Given the description of an element on the screen output the (x, y) to click on. 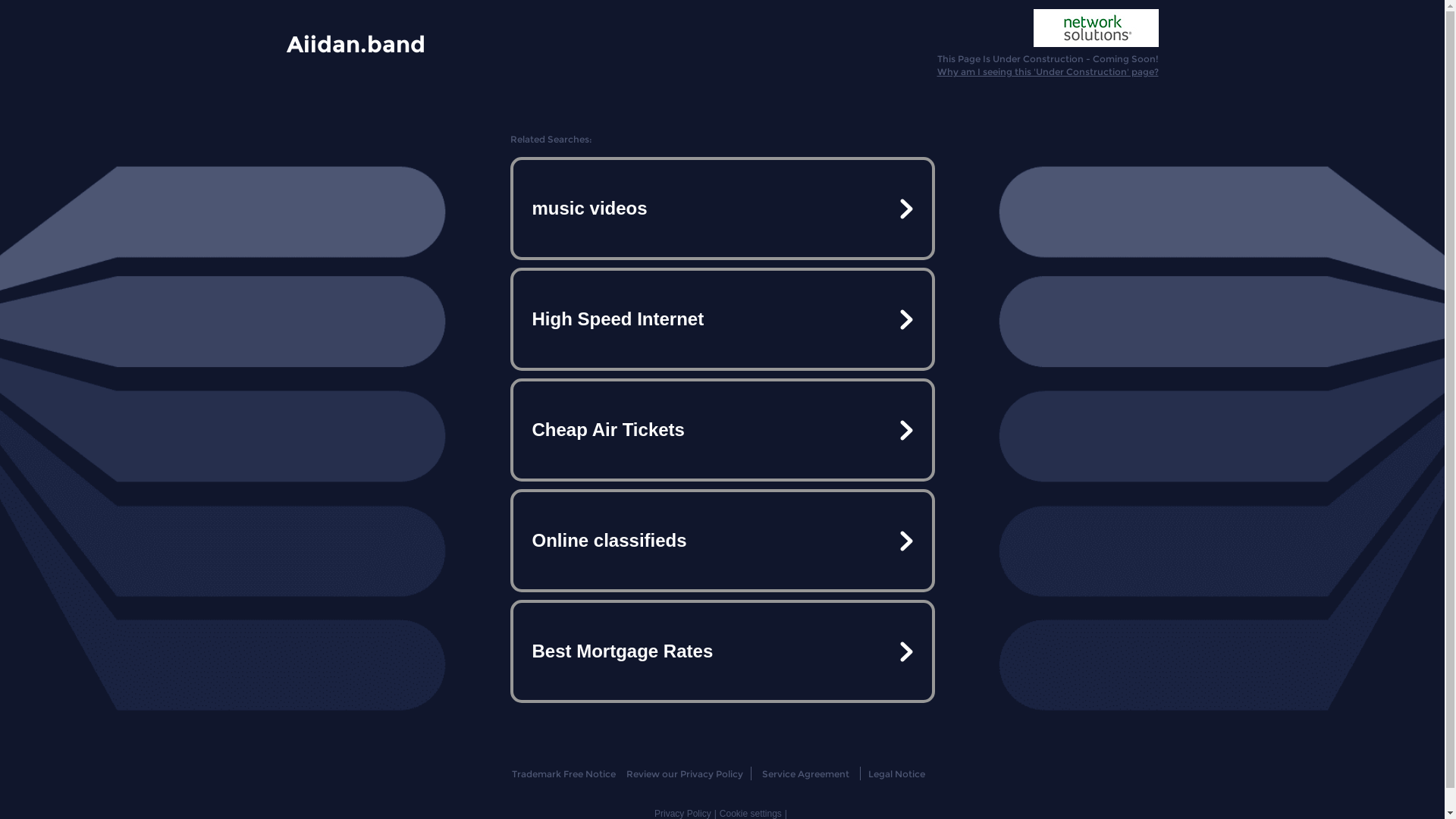
Online classifieds Element type: text (721, 540)
Trademark Free Notice Element type: text (563, 773)
Why am I seeing this 'Under Construction' page? Element type: text (1047, 71)
Cheap Air Tickets Element type: text (721, 429)
Legal Notice Element type: text (896, 773)
Best Mortgage Rates Element type: text (721, 650)
High Speed Internet Element type: text (721, 318)
Review our Privacy Policy Element type: text (684, 773)
Aiidan.band Element type: text (355, 43)
Service Agreement Element type: text (805, 773)
music videos Element type: text (721, 208)
